Given the description of an element on the screen output the (x, y) to click on. 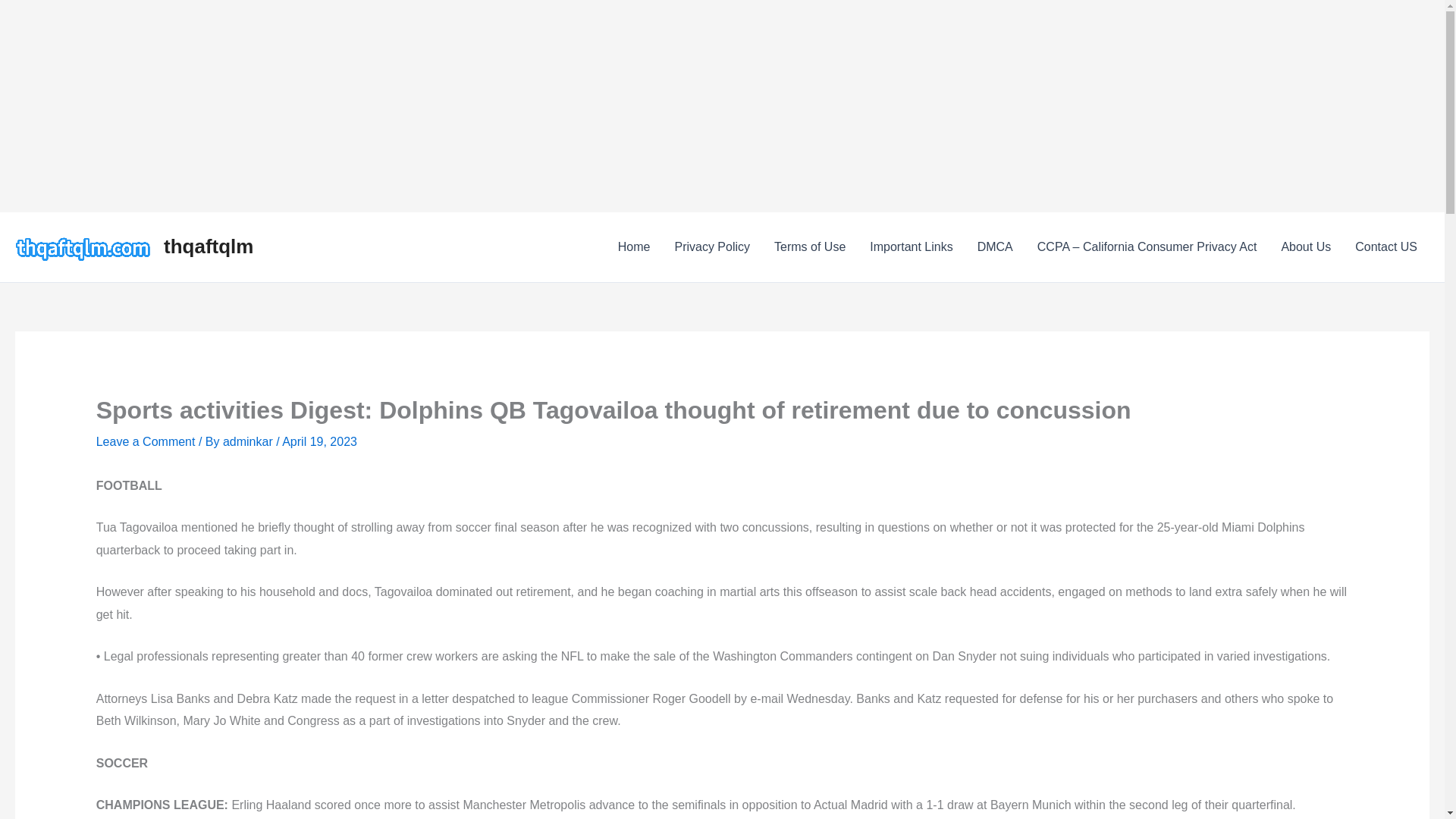
Privacy Policy (711, 247)
Leave a Comment (145, 440)
Terms of Use (809, 247)
thqaftqlm (208, 246)
Contact US (1385, 247)
Home (633, 247)
Important Links (910, 247)
View all posts by adminkar (249, 440)
adminkar (249, 440)
DMCA (995, 247)
About Us (1305, 247)
